Given the description of an element on the screen output the (x, y) to click on. 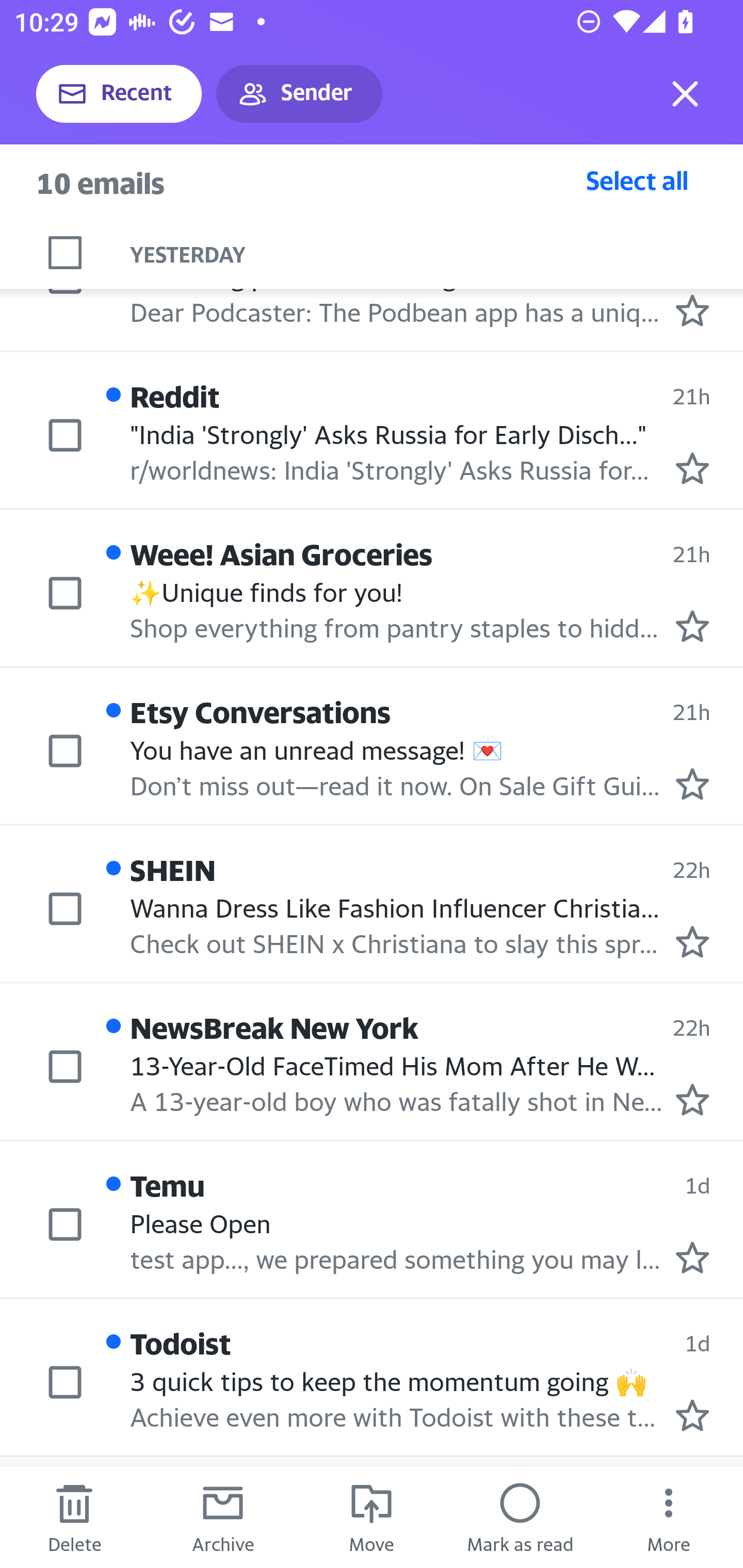
Sender (299, 93)
Exit selection mode (684, 93)
Select all (637, 180)
Mark as starred. (692, 311)
Mark as starred. (692, 468)
Mark as starred. (692, 626)
Mark as starred. (692, 783)
Mark as starred. (692, 941)
Mark as starred. (692, 1099)
Mark as starred. (692, 1256)
Mark as starred. (692, 1415)
Delete (74, 1517)
Archive (222, 1517)
Move (371, 1517)
Mark as read (519, 1517)
More (668, 1517)
